Given the description of an element on the screen output the (x, y) to click on. 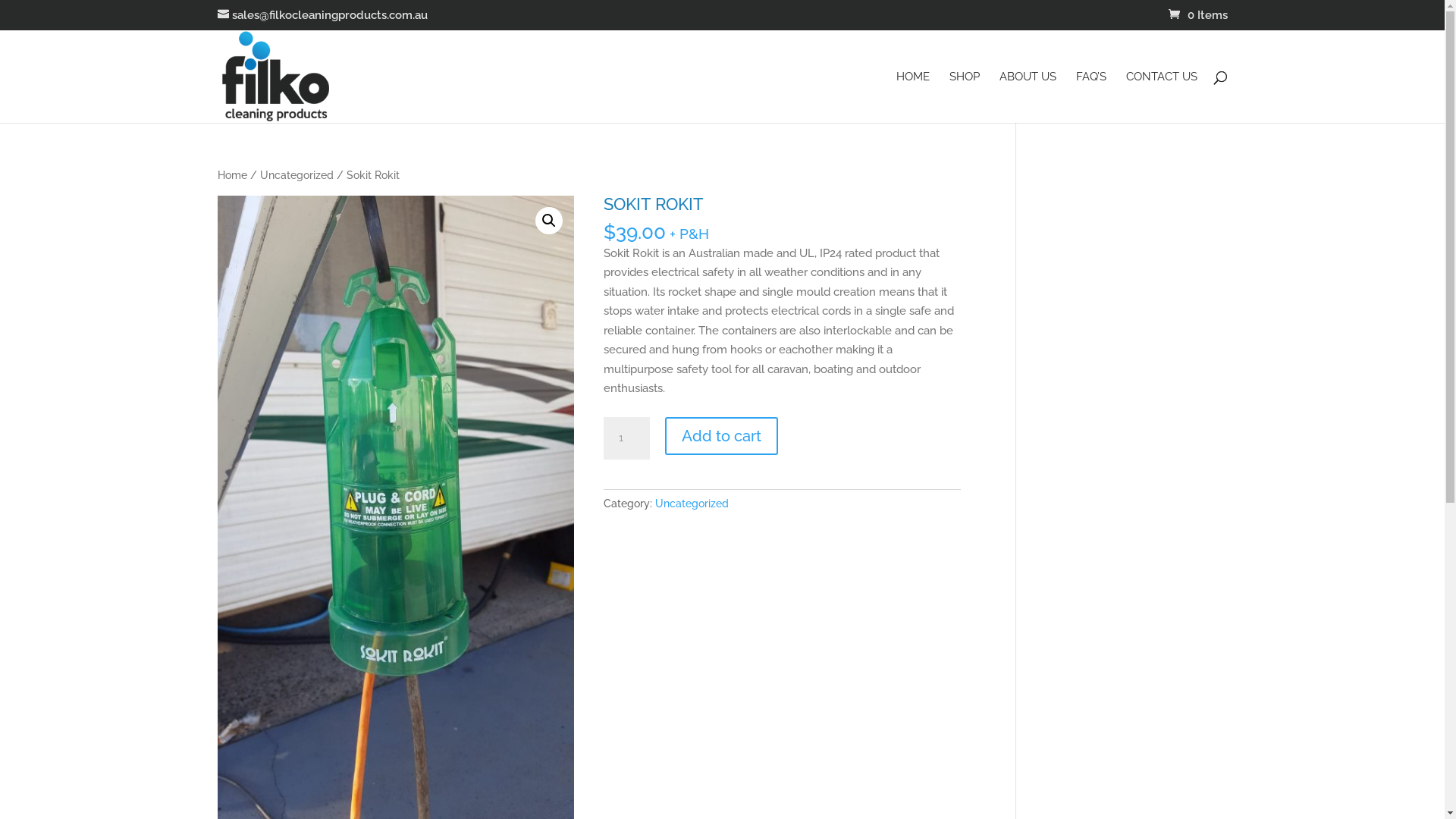
ABOUT US Element type: text (1027, 96)
sales@filkocleaningproducts.com.au Element type: text (321, 14)
SHOP Element type: text (964, 96)
CONTACT US Element type: text (1160, 96)
Home Element type: text (231, 175)
Uncategorized Element type: text (295, 175)
Qty Element type: hover (626, 438)
HOME Element type: text (912, 96)
Add to cart Element type: text (721, 436)
0 Items Element type: text (1196, 14)
Uncategorized Element type: text (691, 503)
